Given the description of an element on the screen output the (x, y) to click on. 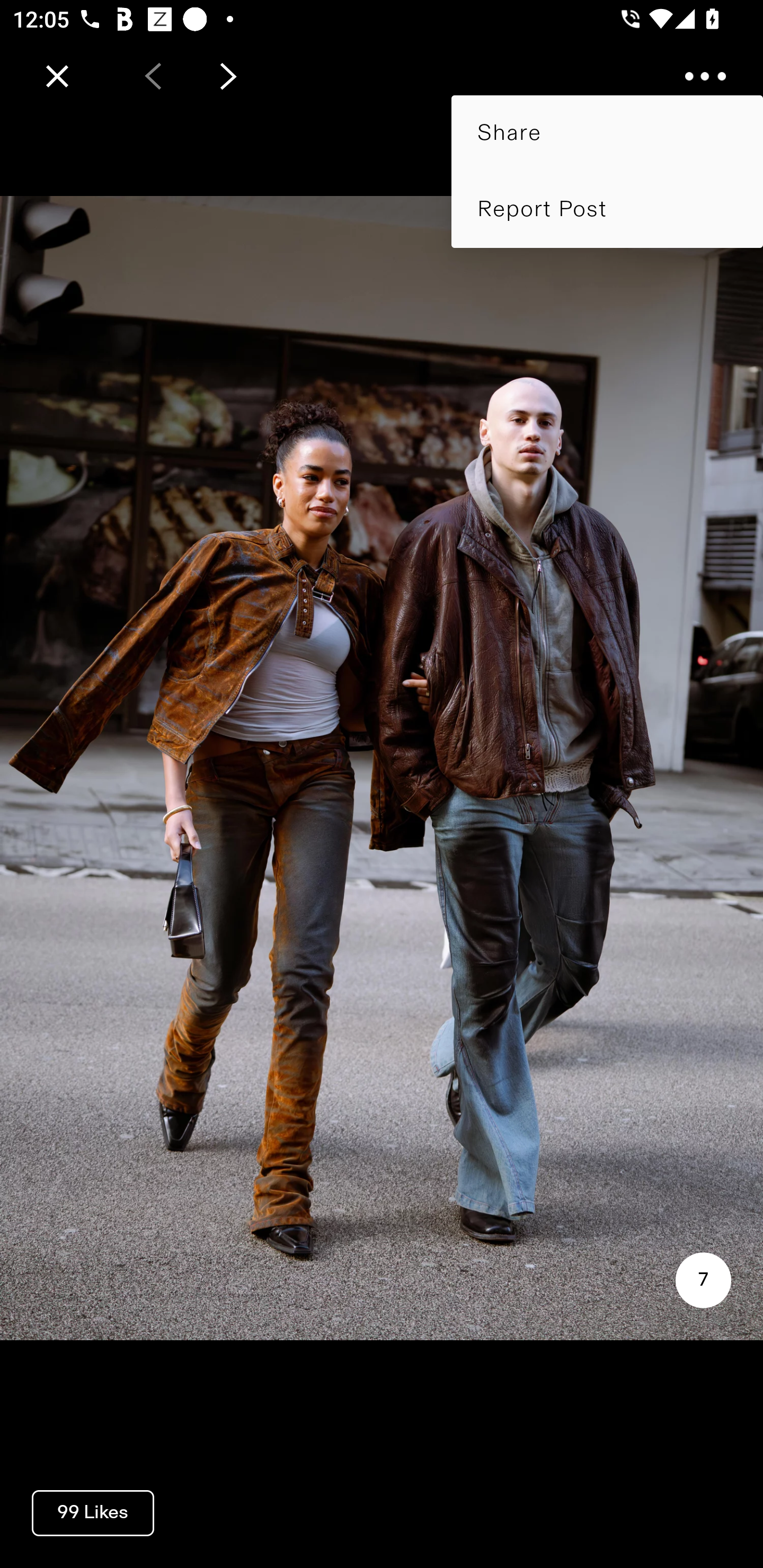
Share (607, 132)
Report Post (607, 208)
